Given the description of an element on the screen output the (x, y) to click on. 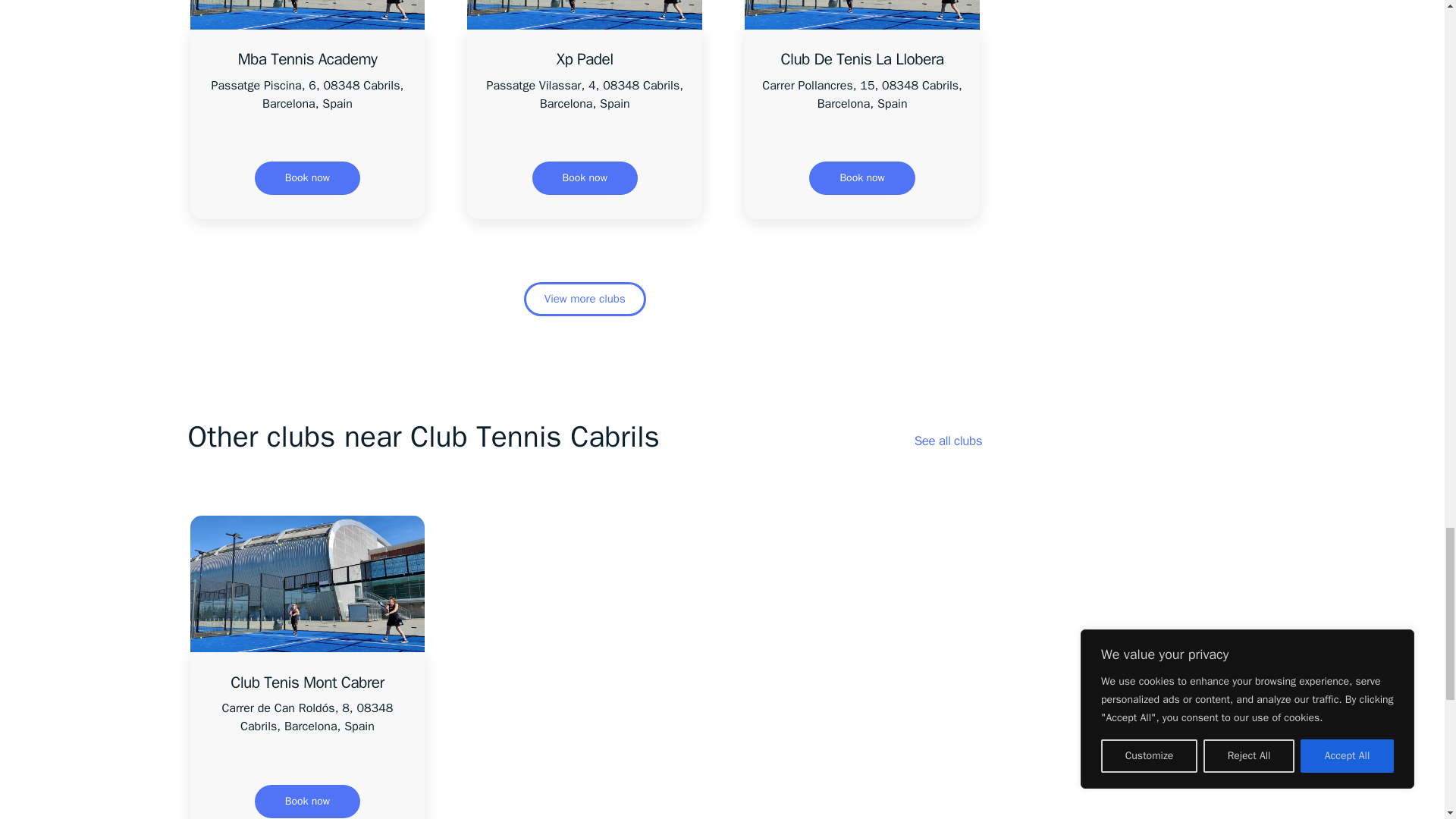
See all clubs (947, 440)
Book now (861, 177)
View more clubs (585, 298)
Book now (584, 177)
Book now (306, 801)
Book now (306, 177)
